Given the description of an element on the screen output the (x, y) to click on. 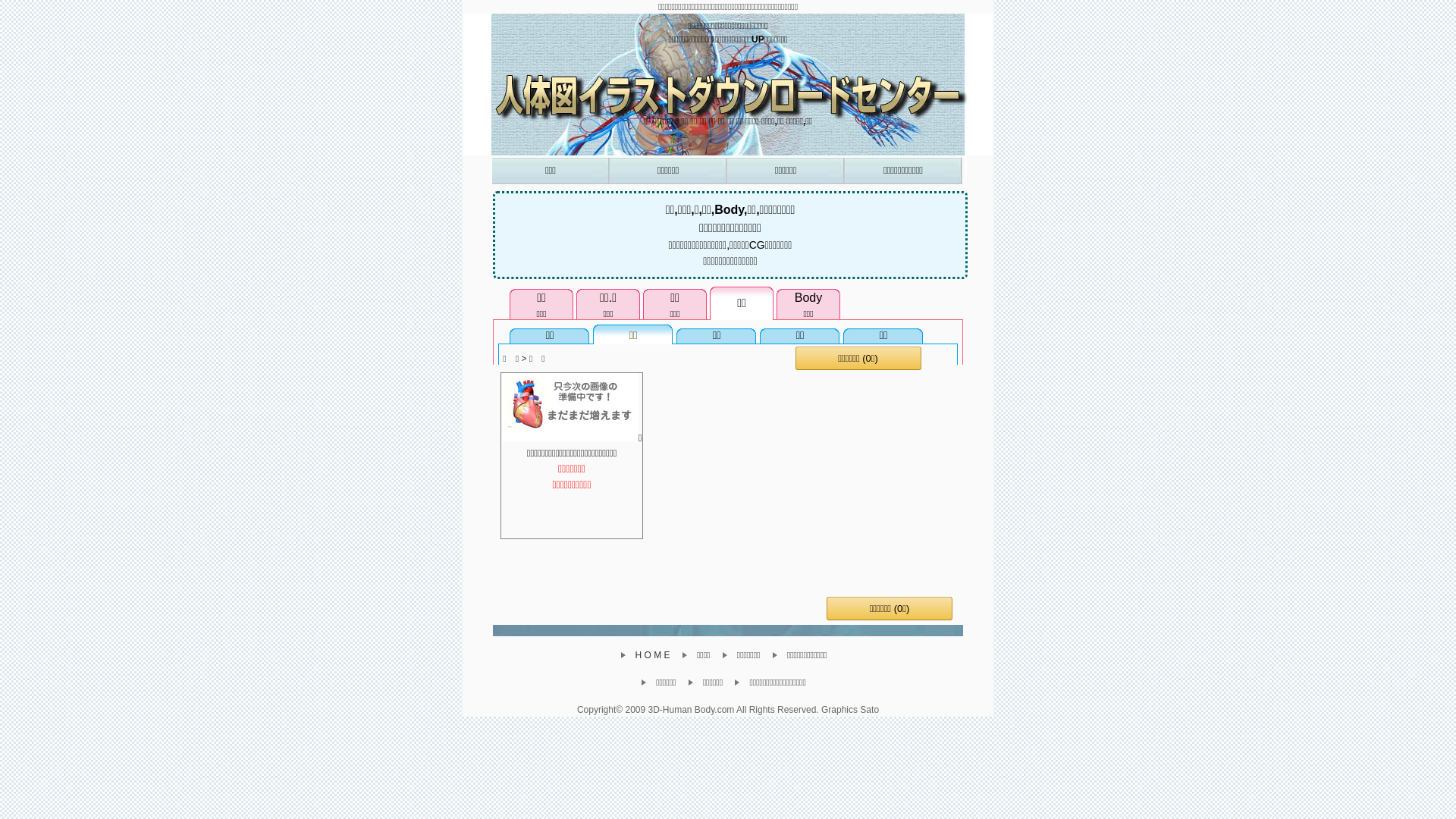
H O M E Element type: text (649, 655)
